Given the description of an element on the screen output the (x, y) to click on. 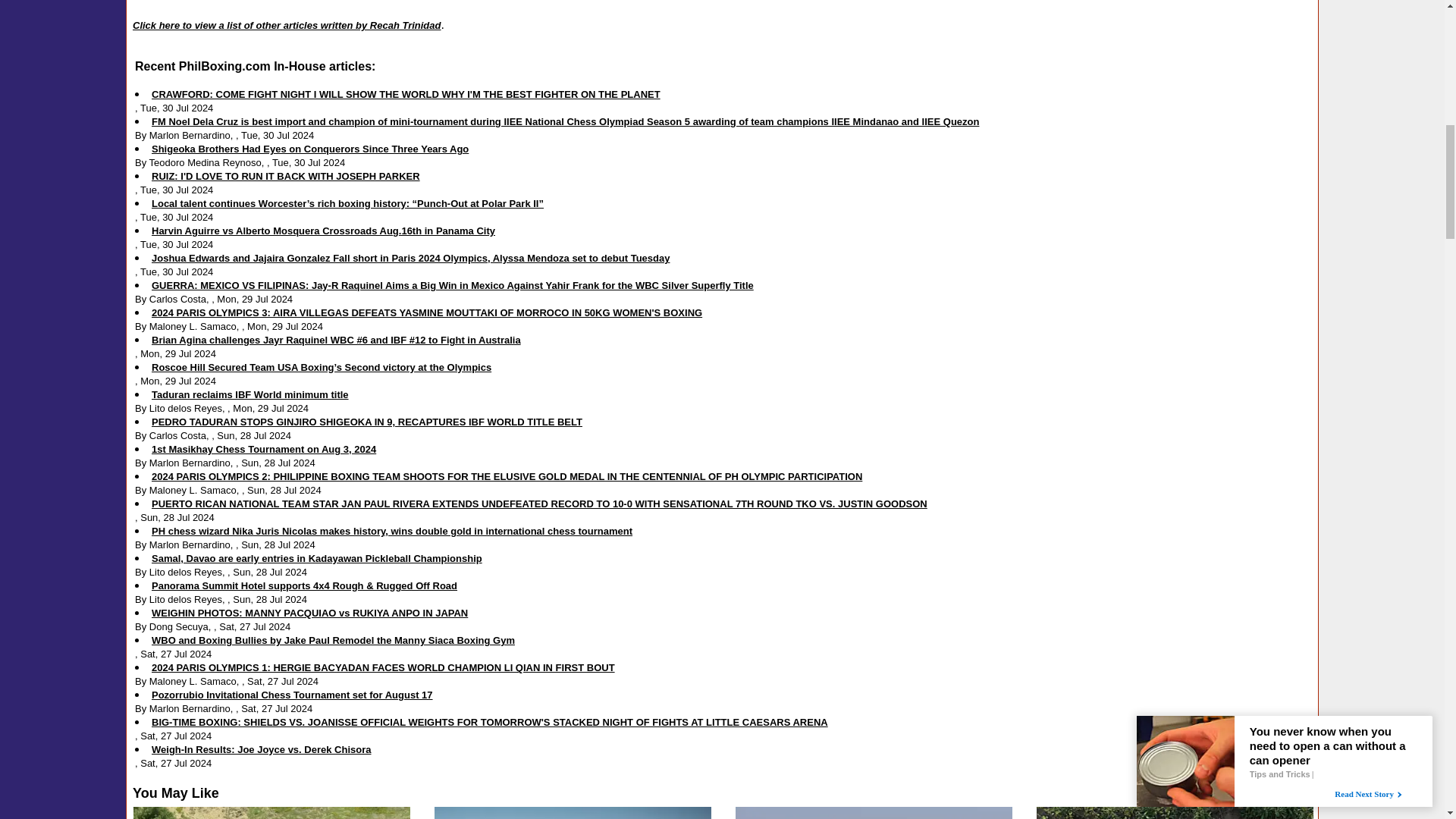
If you own a mouse, play it for 1 minute. (572, 812)
